Given the description of an element on the screen output the (x, y) to click on. 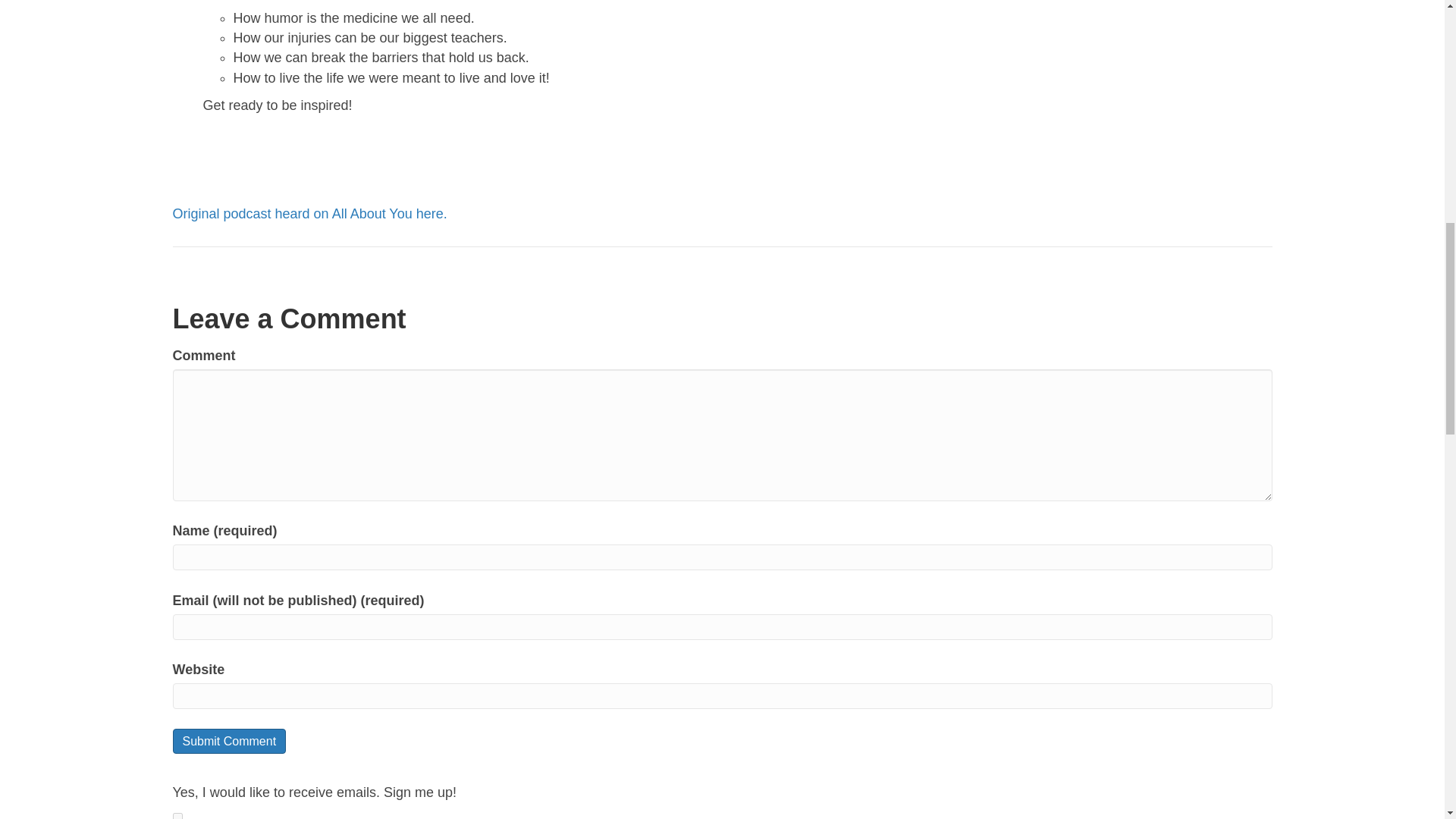
Submit Comment (229, 740)
4 (178, 816)
